Given the description of an element on the screen output the (x, y) to click on. 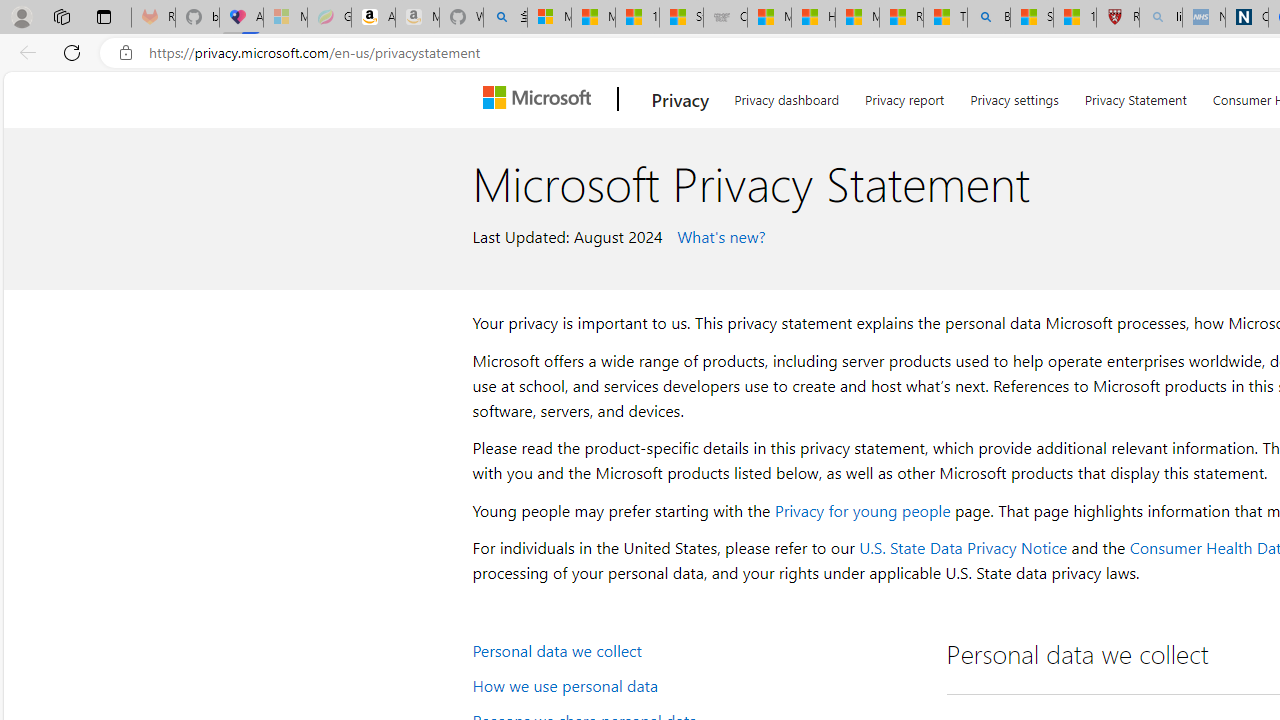
Recipes - MSN (900, 17)
 What's new? (718, 235)
Asthma Inhalers: Names and Types (241, 17)
How we use personal data (696, 684)
Microsoft (541, 99)
Privacy settings (1014, 96)
Privacy for young people (862, 509)
